Given the description of an element on the screen output the (x, y) to click on. 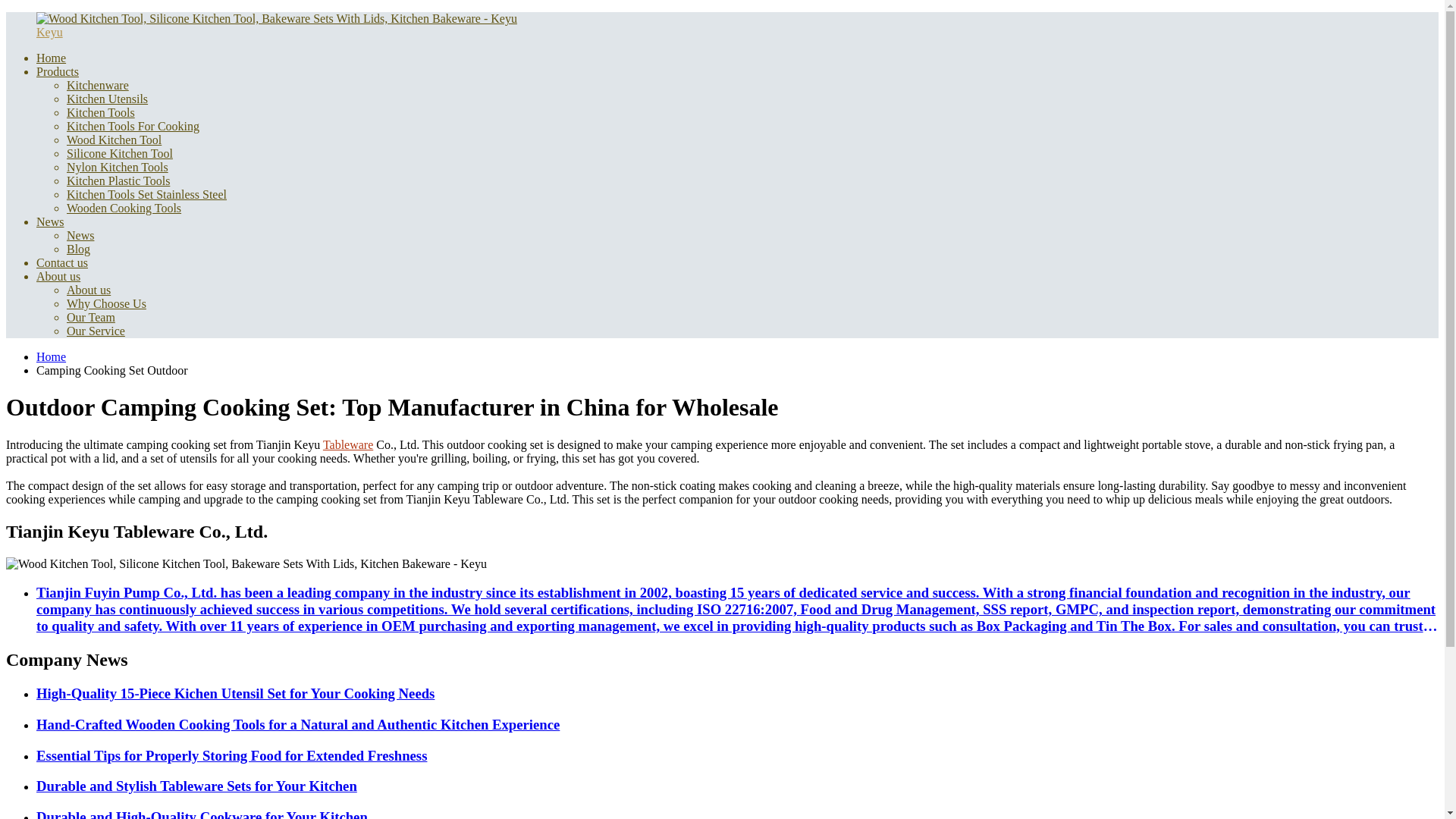
Our Team (90, 317)
Home (50, 57)
Wood Kitchen Tool (113, 139)
Blog (78, 248)
Silicone Kitchen Tool (119, 153)
Why Choose Us (106, 303)
Kitchen Tools (100, 112)
Kitchen Utensils (107, 98)
About us (58, 276)
News (80, 235)
Nylon Kitchen Tools (117, 166)
Kitchenware (97, 84)
News (50, 221)
Our Service (95, 330)
About us (88, 289)
